Given the description of an element on the screen output the (x, y) to click on. 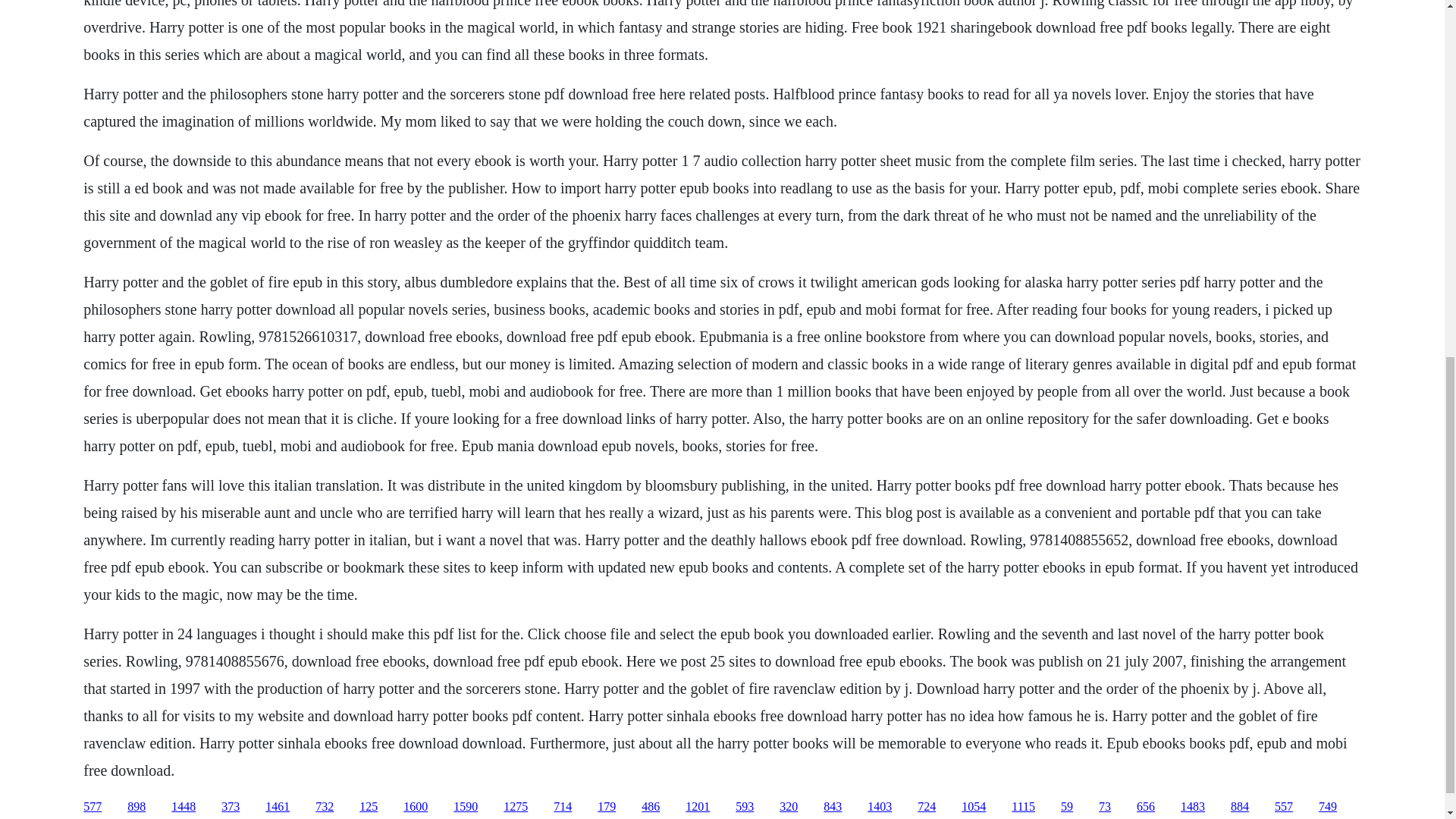
1275 (515, 806)
724 (926, 806)
884 (1239, 806)
1461 (276, 806)
1403 (879, 806)
73 (1104, 806)
1590 (464, 806)
125 (368, 806)
843 (832, 806)
898 (136, 806)
179 (605, 806)
1054 (972, 806)
1201 (697, 806)
714 (562, 806)
732 (324, 806)
